Given the description of an element on the screen output the (x, y) to click on. 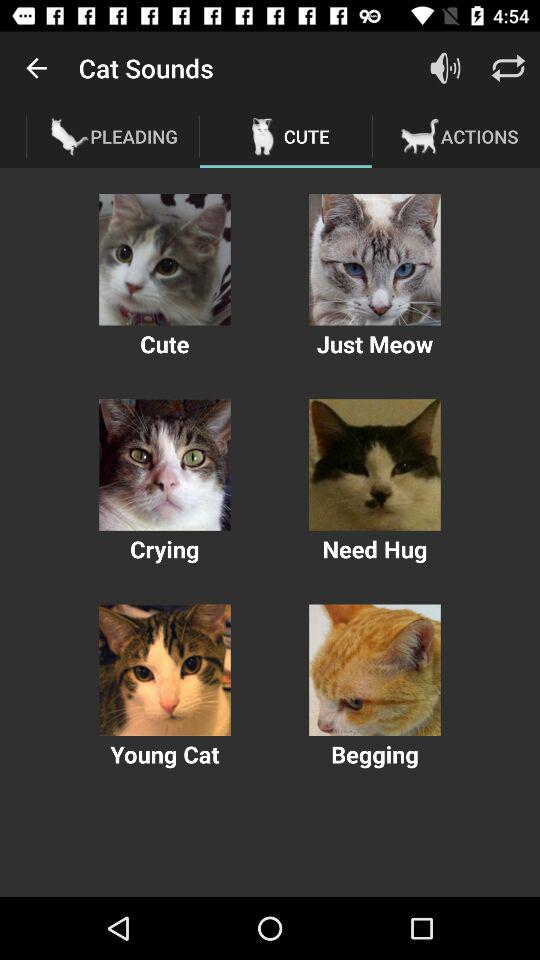
emoji (374, 259)
